Given the description of an element on the screen output the (x, y) to click on. 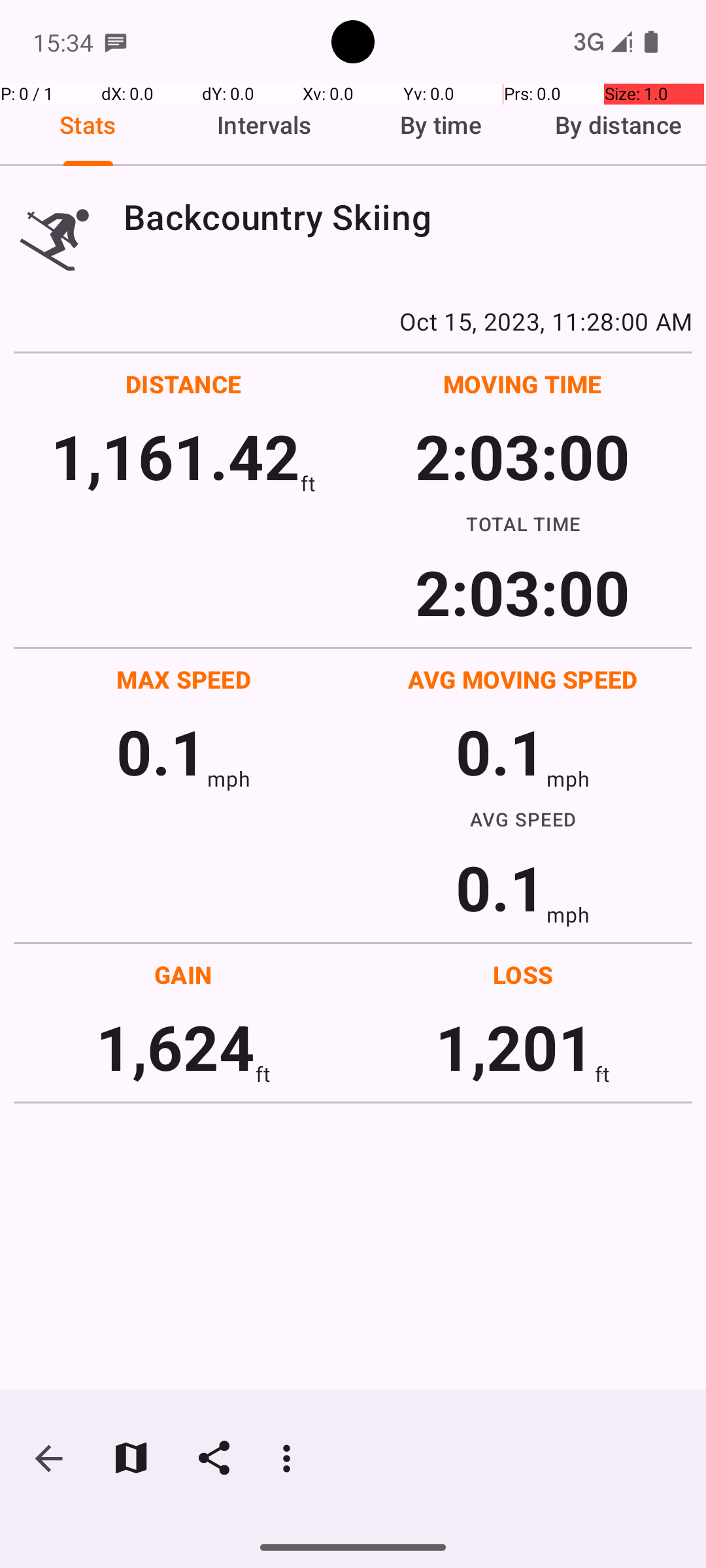
Stats Element type: android.widget.LinearLayout (88, 124)
Intervals Element type: android.widget.LinearLayout (264, 124)
By time Element type: android.widget.LinearLayout (441, 124)
By distance Element type: android.widget.LinearLayout (617, 124)
Show on map Element type: android.widget.Button (130, 1458)
Backcountry Skiing Element type: android.widget.TextView (407, 216)
Oct 15, 2023, 11:28:00 AM Element type: android.widget.TextView (352, 320)
DISTANCE Element type: android.widget.TextView (183, 383)
MOVING TIME Element type: android.widget.TextView (522, 383)
1,161.42 Element type: android.widget.TextView (175, 455)
ft Element type: android.widget.TextView (307, 483)
2:03:00 Element type: android.widget.TextView (522, 455)
TOTAL TIME Element type: android.widget.TextView (522, 523)
MAX SPEED Element type: android.widget.TextView (183, 678)
AVG MOVING SPEED Element type: android.widget.TextView (522, 678)
0.1 Element type: android.widget.TextView (161, 750)
mph Element type: android.widget.TextView (228, 778)
AVG SPEED Element type: android.widget.TextView (522, 818)
GAIN Element type: android.widget.TextView (183, 974)
LOSS Element type: android.widget.TextView (522, 974)
1,624 Element type: android.widget.TextView (175, 1045)
1,201 Element type: android.widget.TextView (514, 1045)
